Given the description of an element on the screen output the (x, y) to click on. 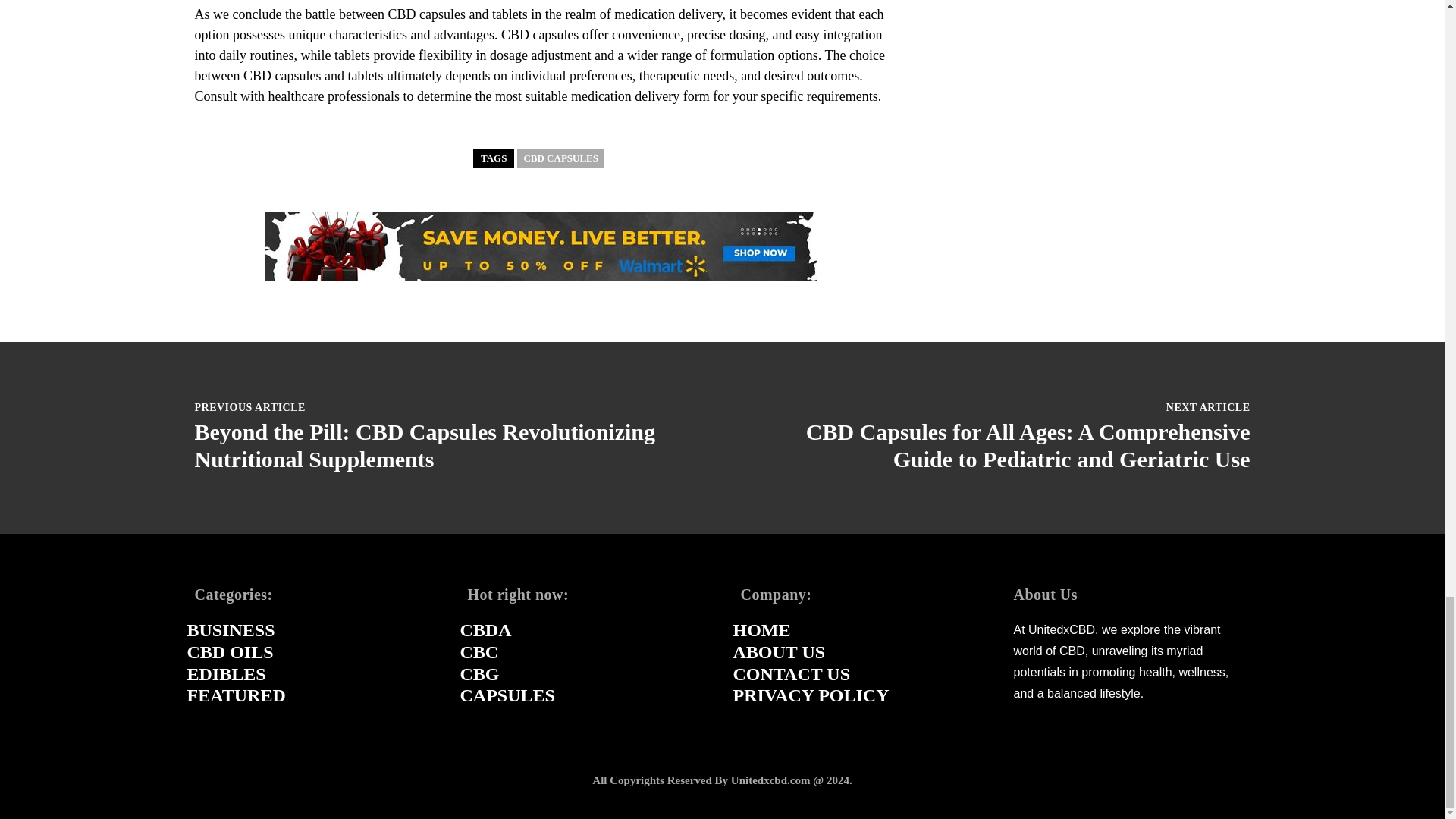
CBD CAPSULES (560, 157)
